Given the description of an element on the screen output the (x, y) to click on. 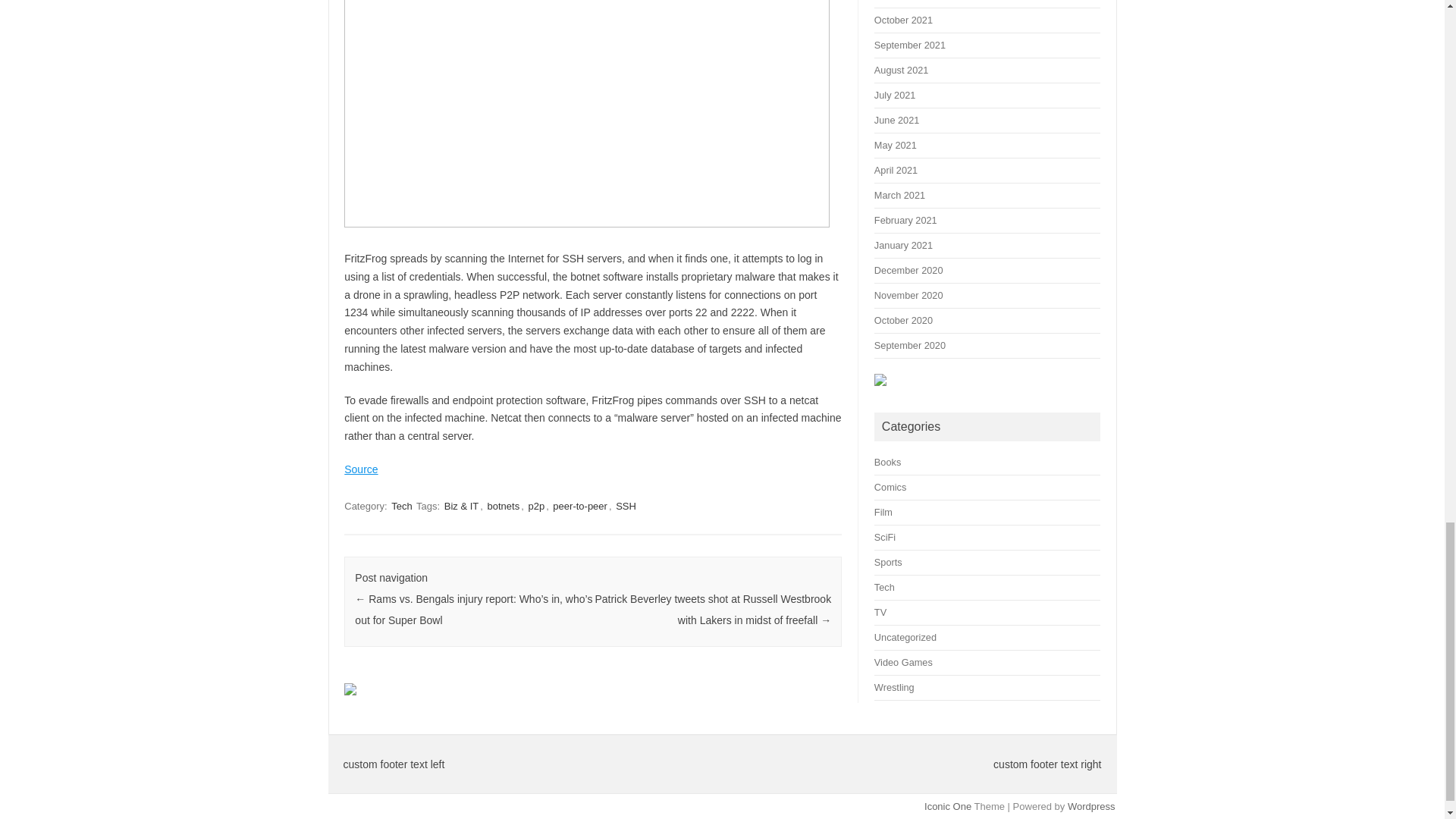
p2p (535, 505)
Tech (401, 505)
peer-to-peer (579, 505)
Source (360, 469)
botnets (503, 505)
SSH (625, 505)
